Given the description of an element on the screen output the (x, y) to click on. 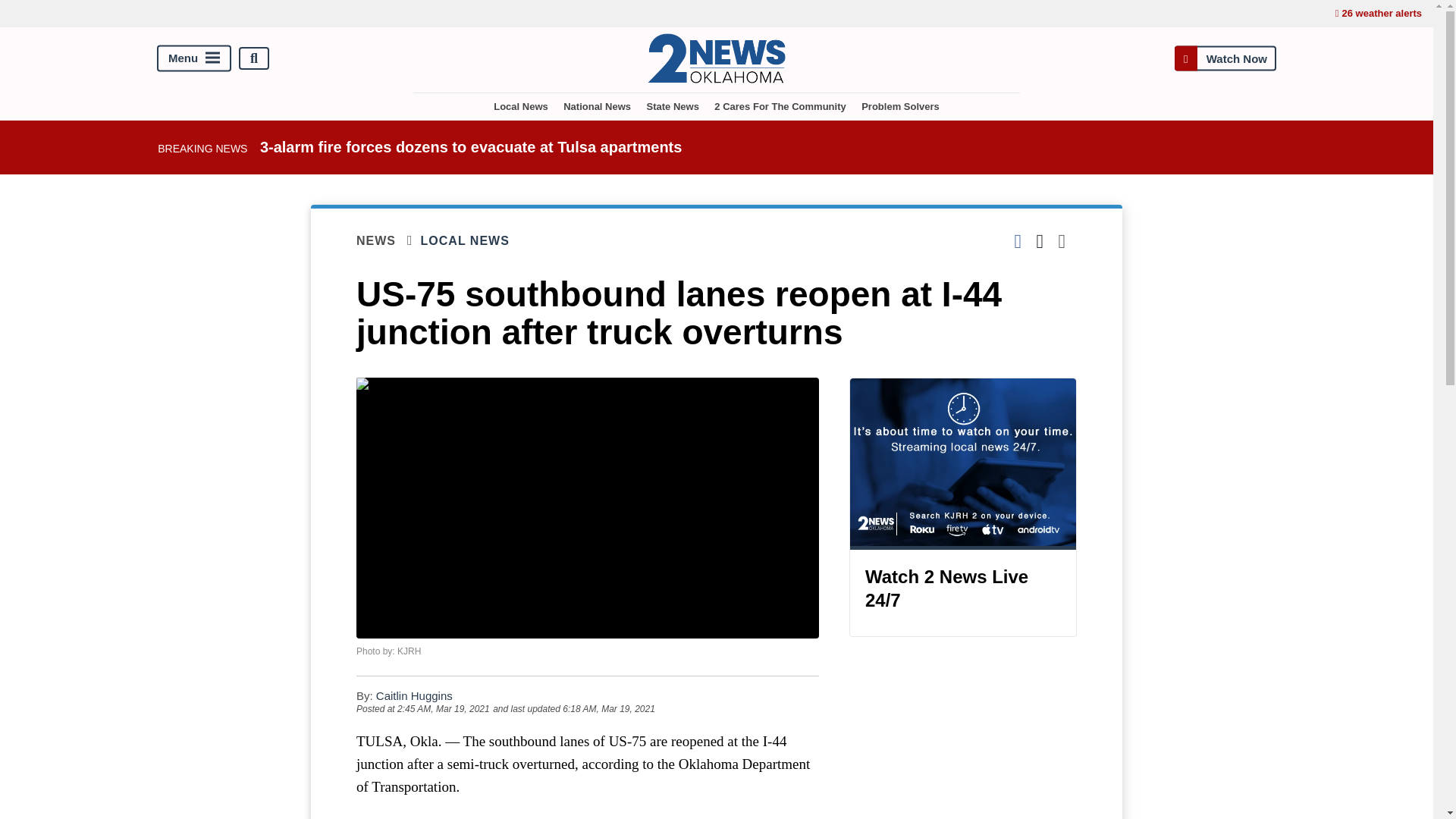
Menu (194, 58)
Watch Now (1224, 58)
